Given the description of an element on the screen output the (x, y) to click on. 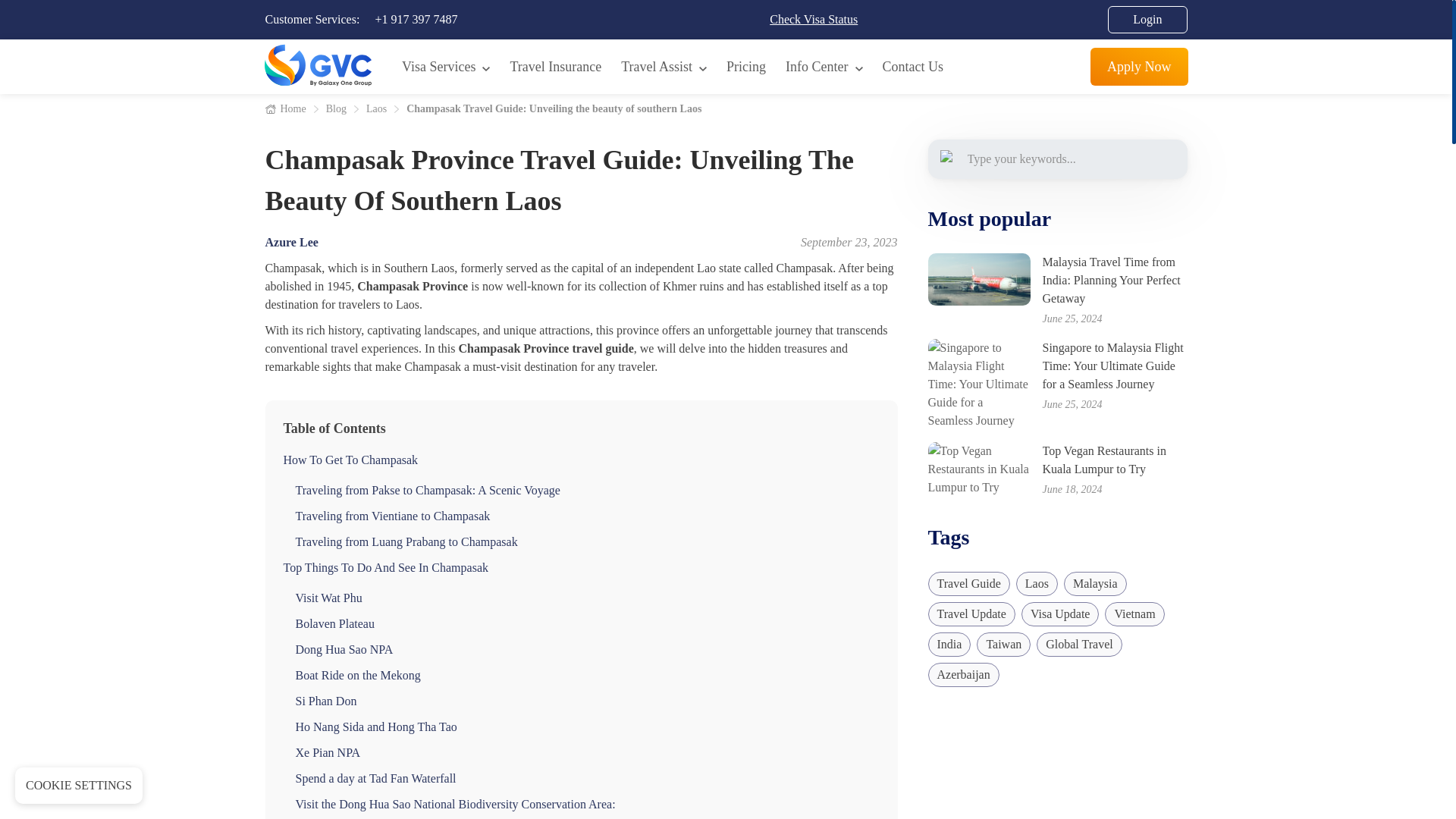
Travel Assist (663, 65)
Login (1147, 19)
Travel Insurance (555, 65)
Check Visa Status (813, 19)
Pricing (745, 65)
GVC (317, 67)
Visa Services (446, 65)
Info Center (822, 65)
Contact Us (913, 65)
Travel Insurance (555, 65)
Login (1147, 19)
Customer Services (415, 19)
GVC (317, 65)
